Given the description of an element on the screen output the (x, y) to click on. 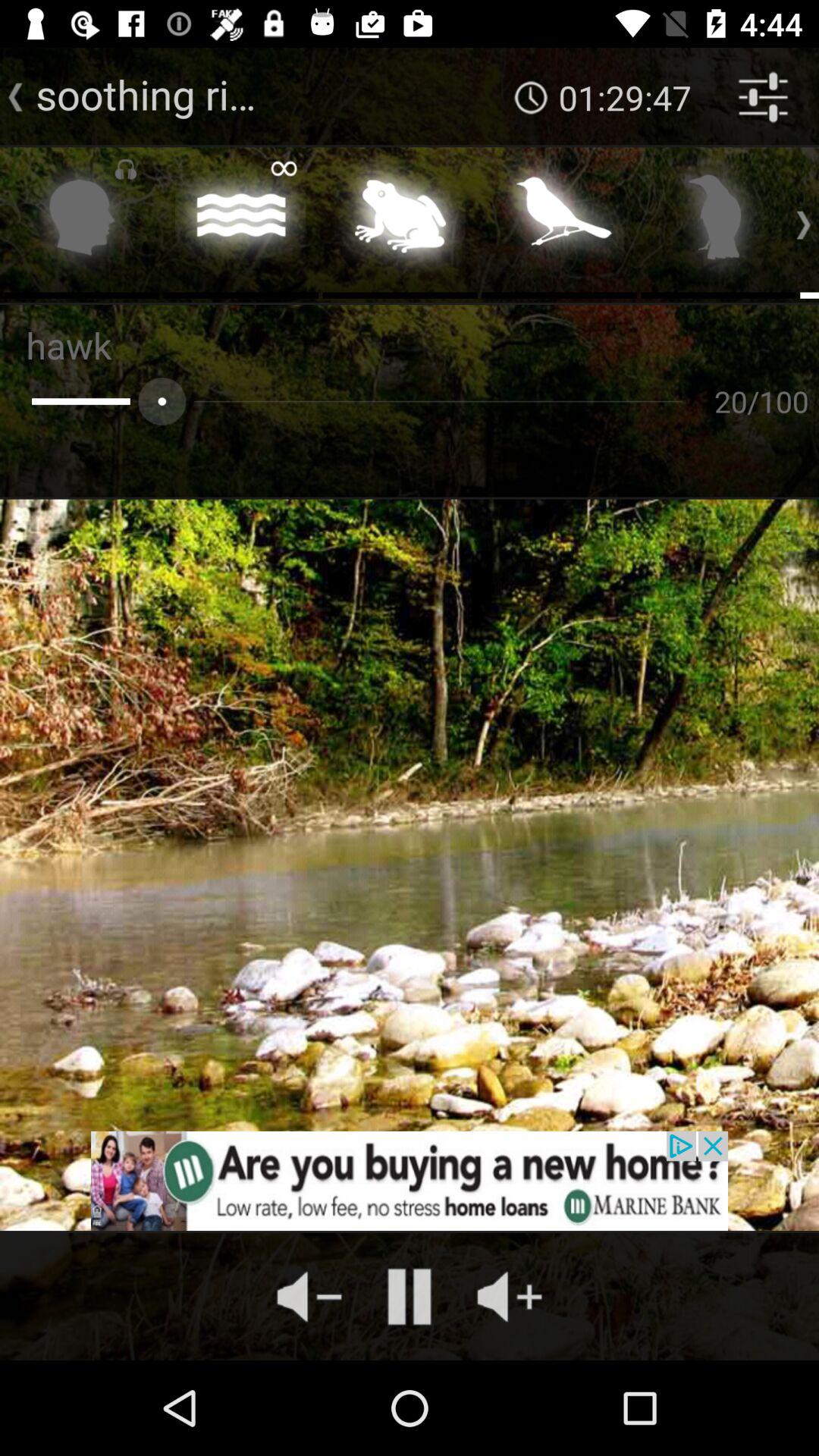
easy listening (399, 221)
